Given the description of an element on the screen output the (x, y) to click on. 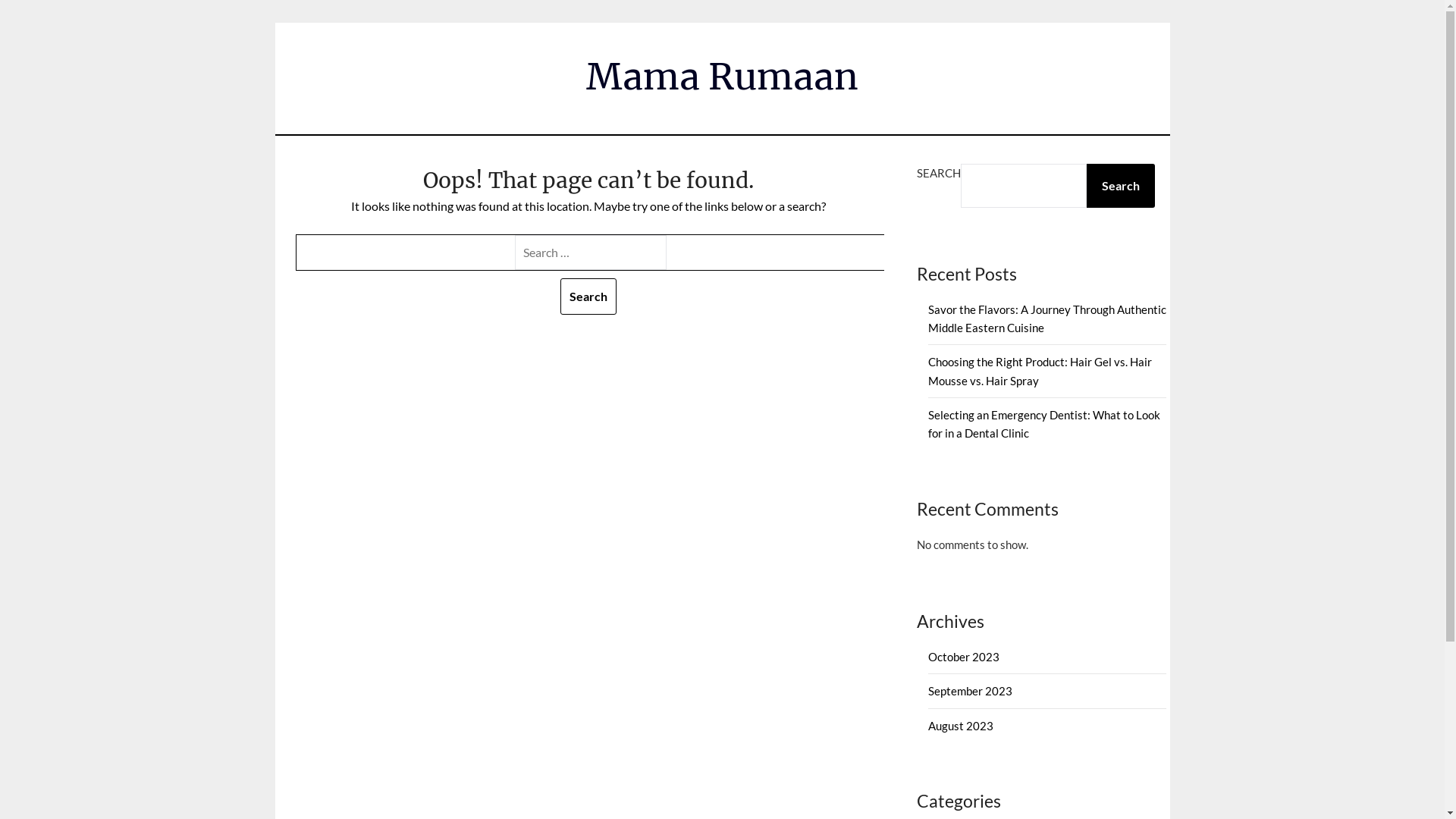
August 2023 Element type: text (960, 725)
Mama Rumaan Element type: text (722, 76)
Search Element type: text (1119, 185)
Search Element type: text (587, 296)
September 2023 Element type: text (970, 690)
October 2023 Element type: text (963, 656)
